Given the description of an element on the screen output the (x, y) to click on. 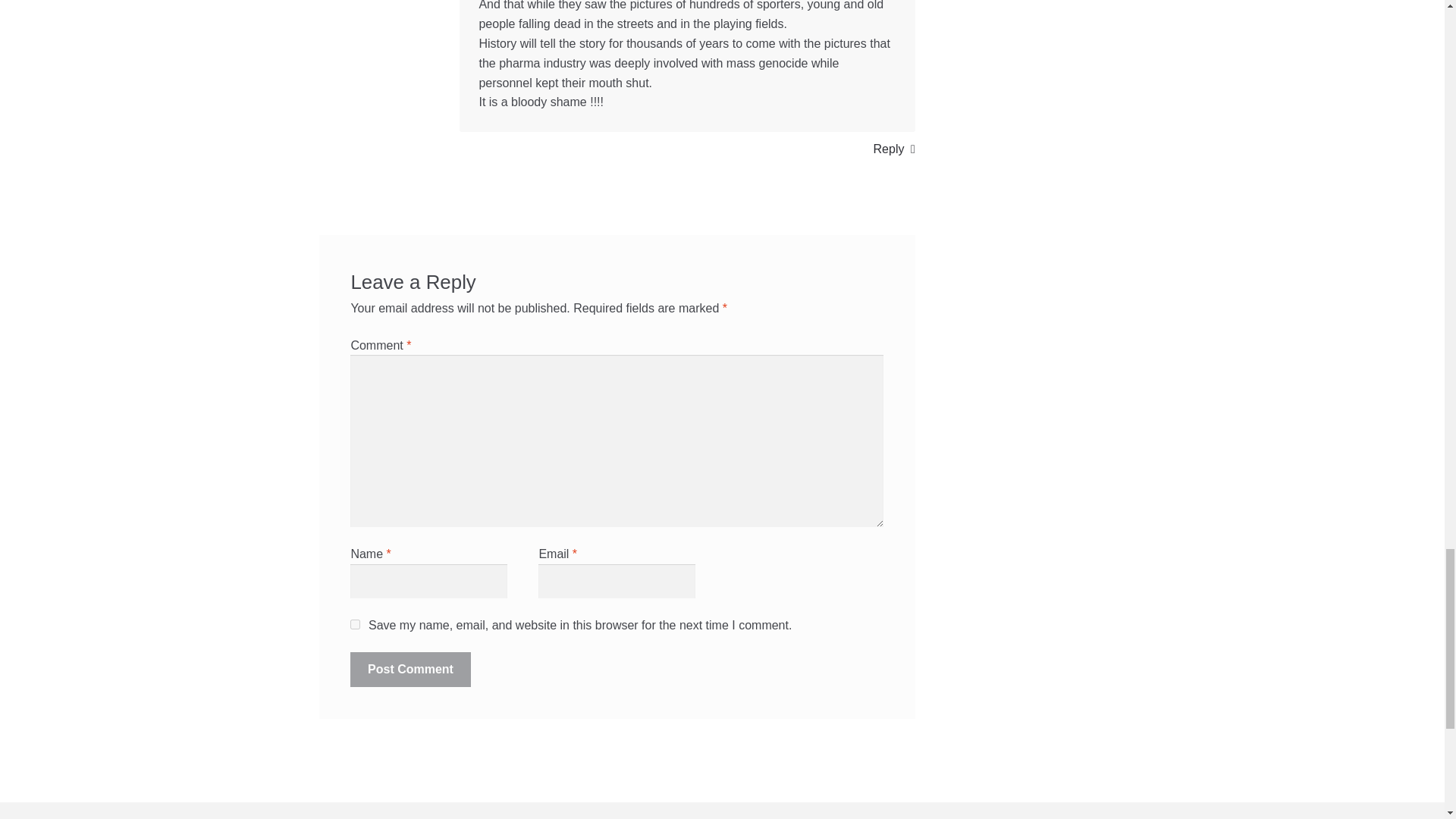
yes (354, 624)
Post Comment (410, 669)
